Given the description of an element on the screen output the (x, y) to click on. 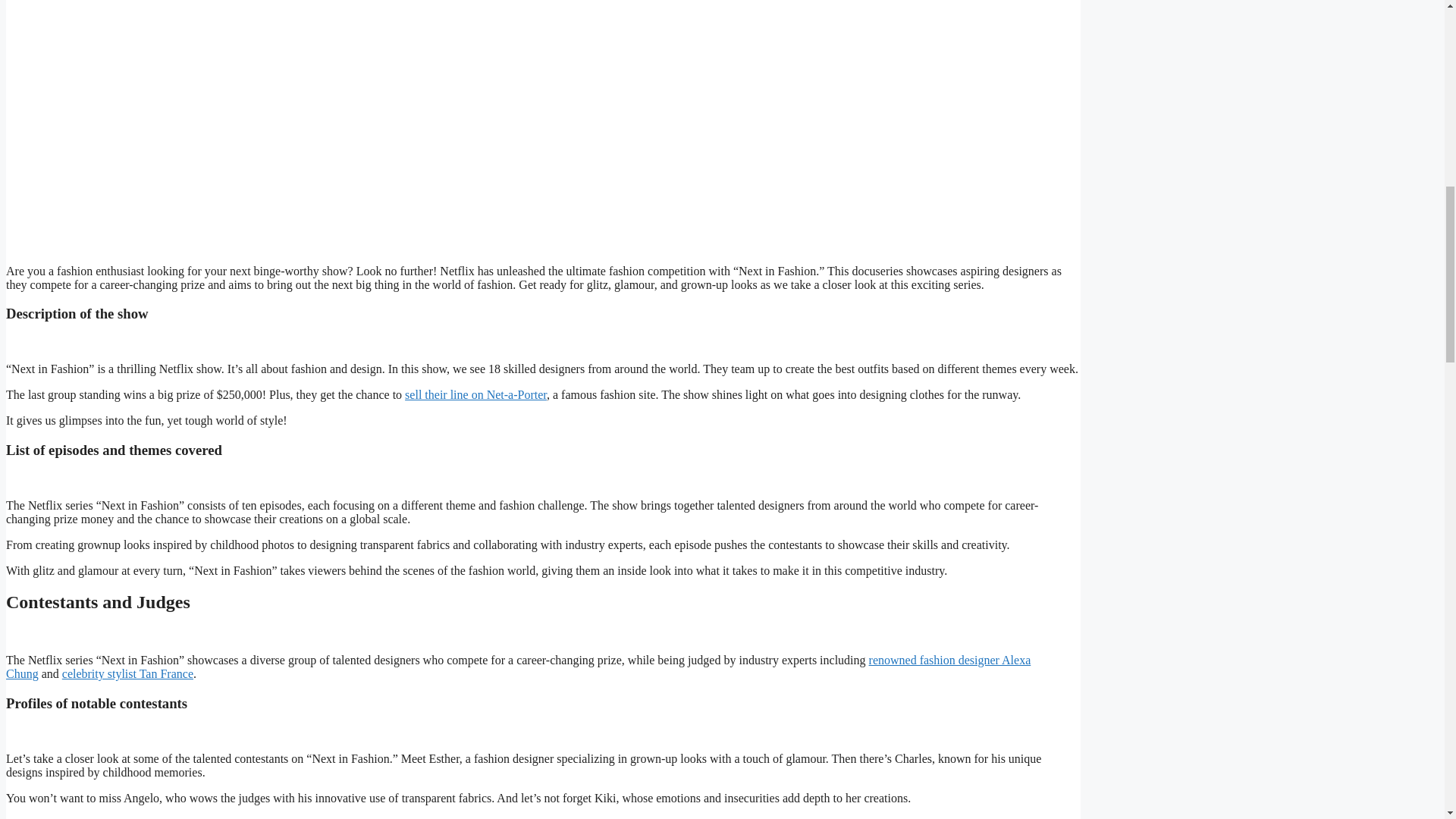
renowned fashion designer Alexa Chung (517, 666)
sell their line on Net-a-Porter (475, 394)
celebrity stylist Tan France (127, 673)
